Given the description of an element on the screen output the (x, y) to click on. 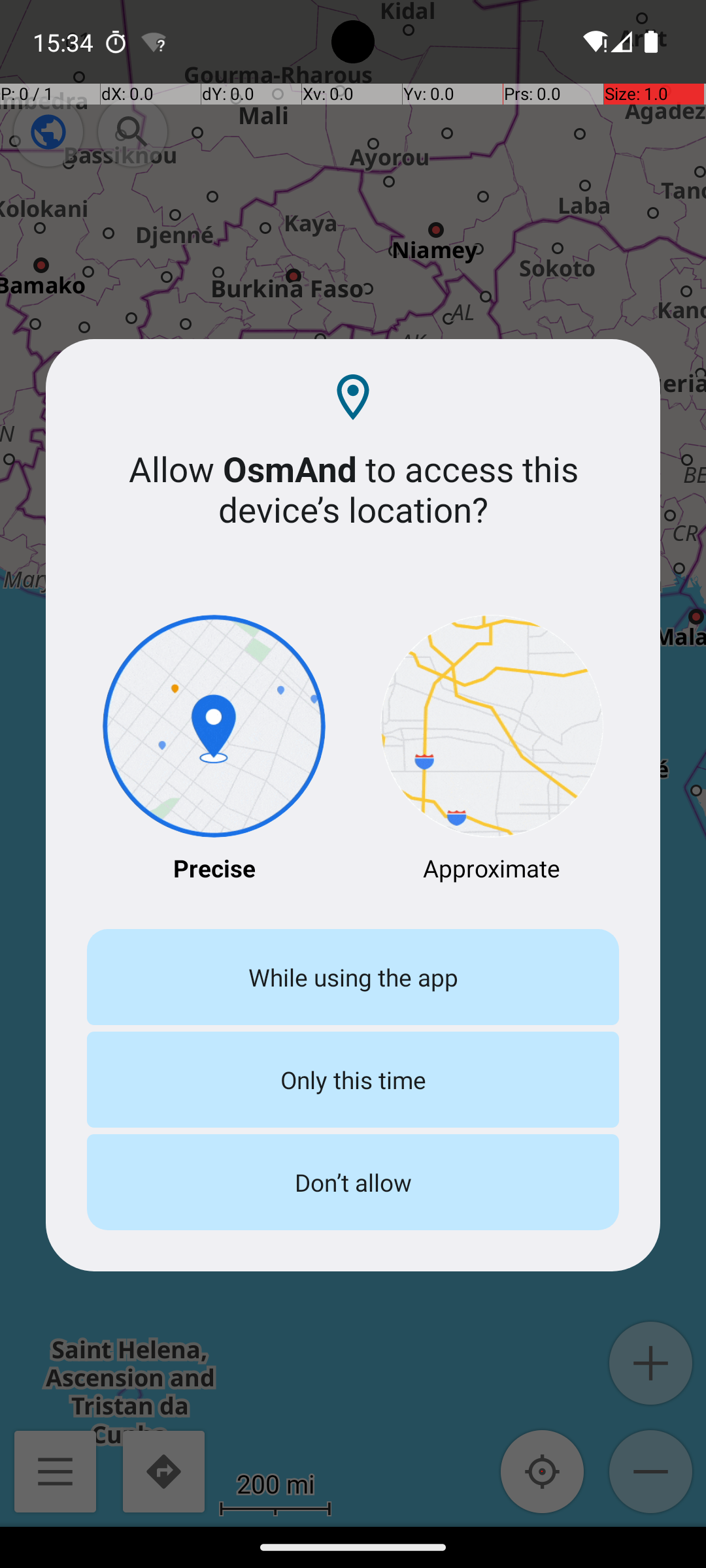
Allow OsmAnd to access this device’s location? Element type: android.widget.TextView (352, 488)
While using the app Element type: android.widget.Button (352, 977)
Only this time Element type: android.widget.Button (352, 1079)
Precise Element type: android.widget.RadioButton (213, 749)
Approximate Element type: android.widget.RadioButton (491, 749)
